Given the description of an element on the screen output the (x, y) to click on. 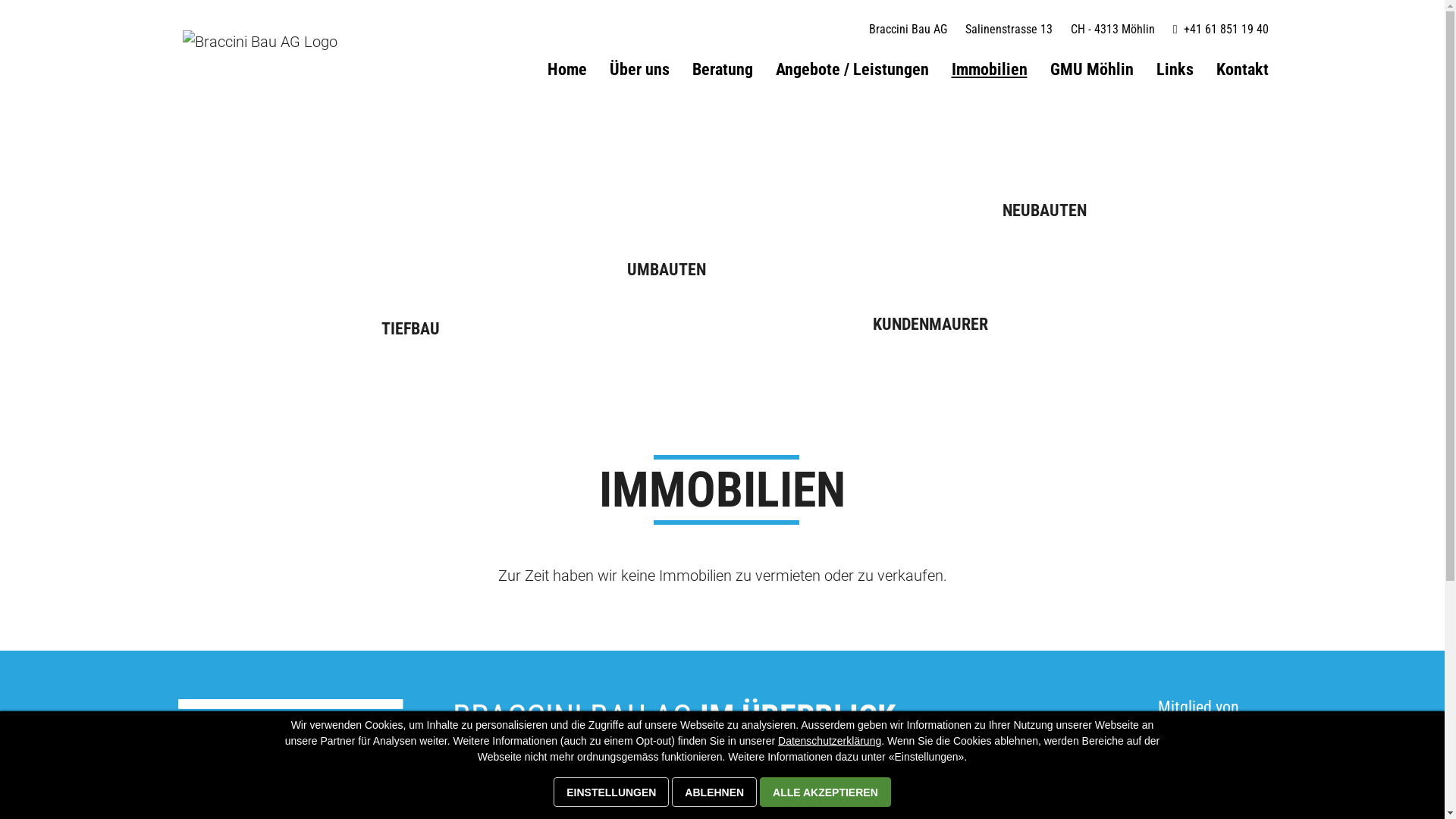
Links Element type: text (1173, 68)
Angebote / Leistungen Element type: text (851, 68)
UMBAUTEN Element type: text (665, 269)
KUNDENMAURER Element type: text (929, 324)
Immobilien Element type: text (988, 68)
TIEFBAU Element type: text (410, 328)
Beratung Element type: text (721, 68)
Kontakt Element type: text (1242, 68)
NEUBAUTEN Element type: text (1042, 210)
Home Element type: text (566, 68)
Braccini Bau AG Element type: hover (274, 41)
